Given the description of an element on the screen output the (x, y) to click on. 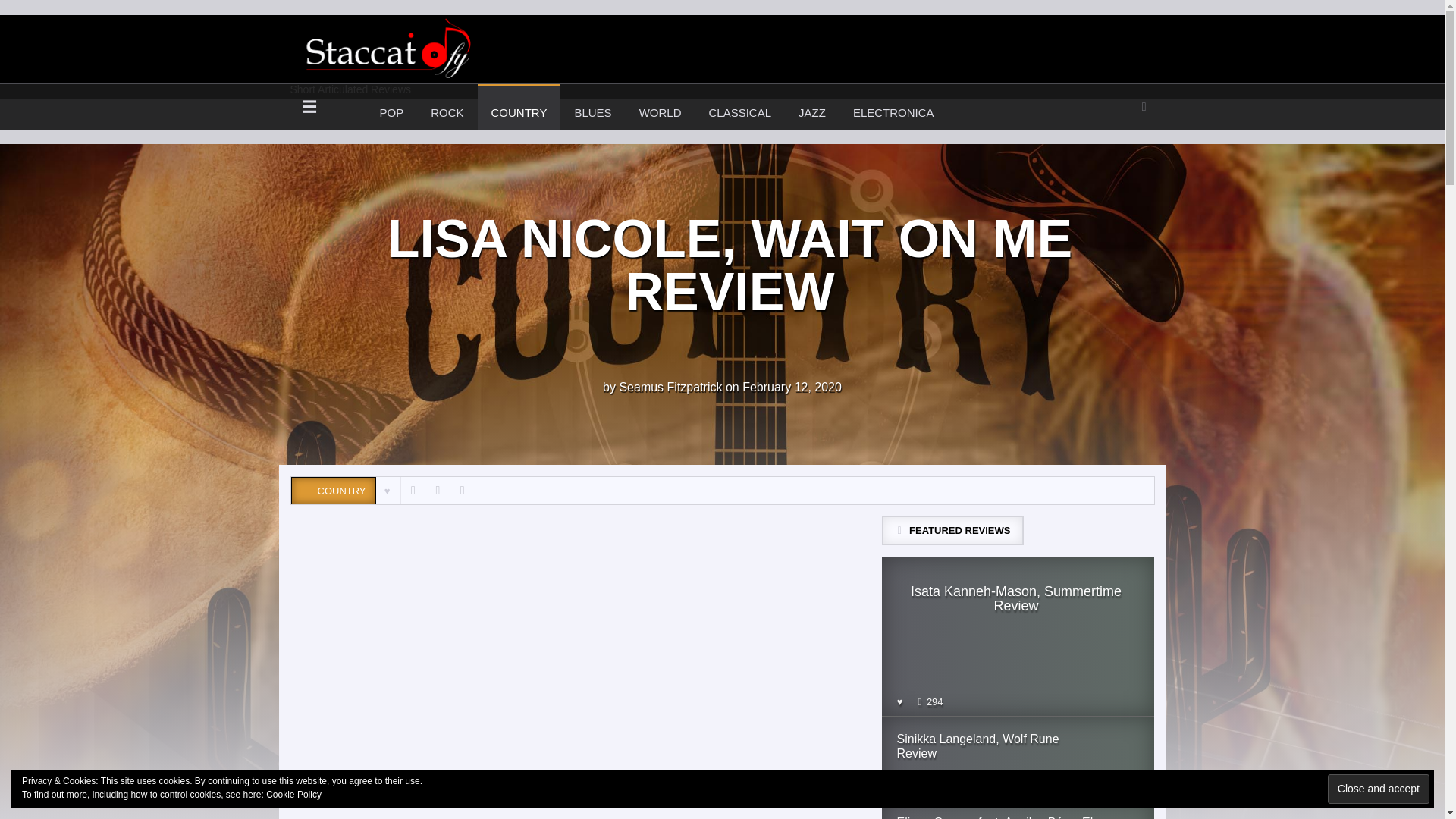
ROCK (446, 106)
Close and accept (518, 106)
POP (1378, 788)
